Given the description of an element on the screen output the (x, y) to click on. 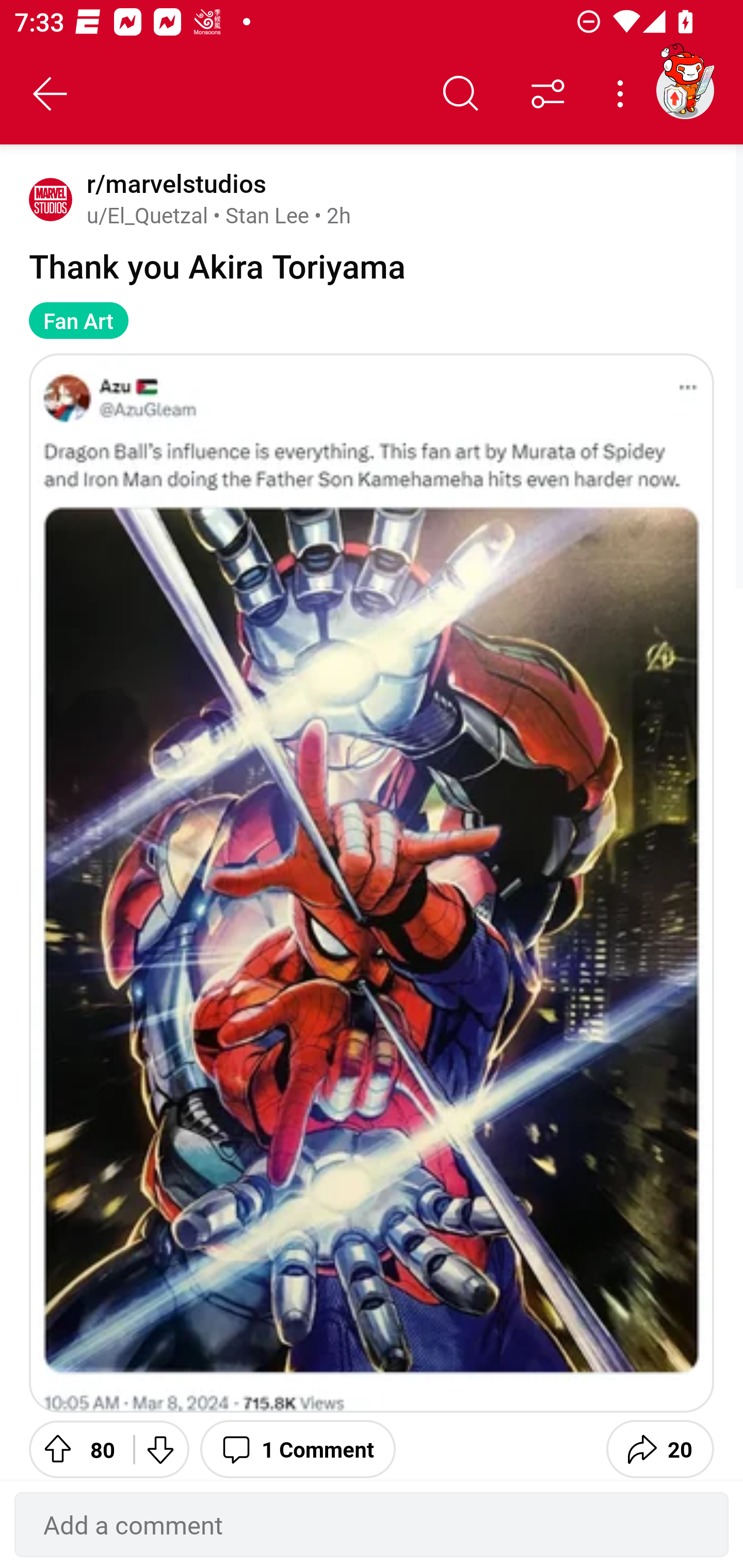
Back (50, 93)
TestAppium002 account (685, 90)
Search comments (460, 93)
Sort comments (547, 93)
More options (623, 93)
r/marvelstudios (173, 183)
Avatar (50, 199)
Fan Art (78, 320)
Image (371, 882)
Upvote 80 (73, 1446)
Downvote (158, 1446)
1 Comment (297, 1446)
Share 20 (660, 1446)
Add a comment (371, 1524)
